Given the description of an element on the screen output the (x, y) to click on. 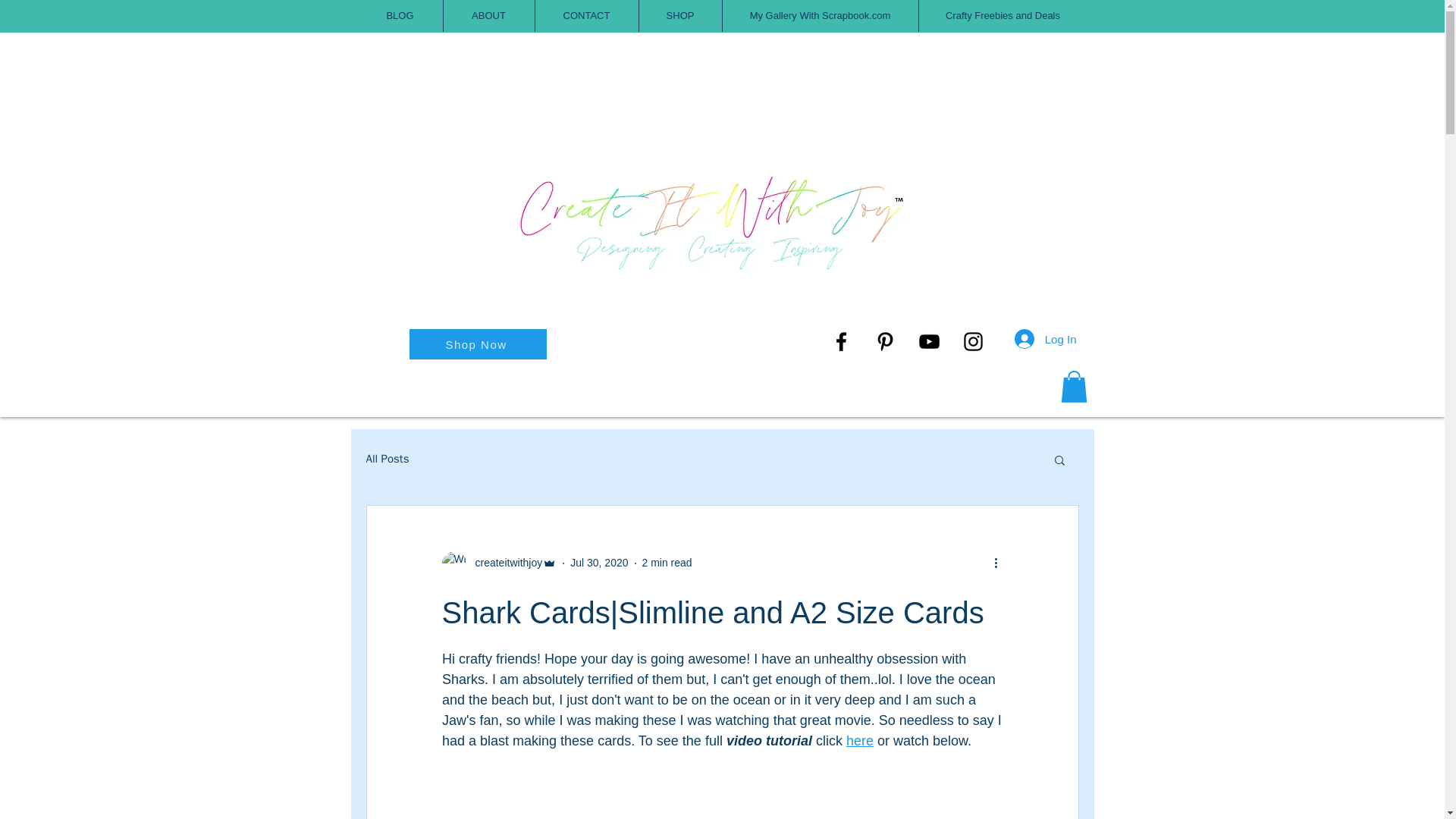
All Posts (387, 459)
createitwithjoy (498, 563)
2 min read (666, 562)
ABOUT (488, 15)
SHOP (679, 15)
My Gallery With Scrapbook.com (819, 15)
createitwithjoy (503, 562)
Log In (1045, 338)
here (858, 740)
Shop Now (478, 344)
Jul 30, 2020 (598, 562)
BLOG (400, 15)
CONTACT (587, 15)
Crafty Freebies and Deals (1002, 15)
